Given the description of an element on the screen output the (x, y) to click on. 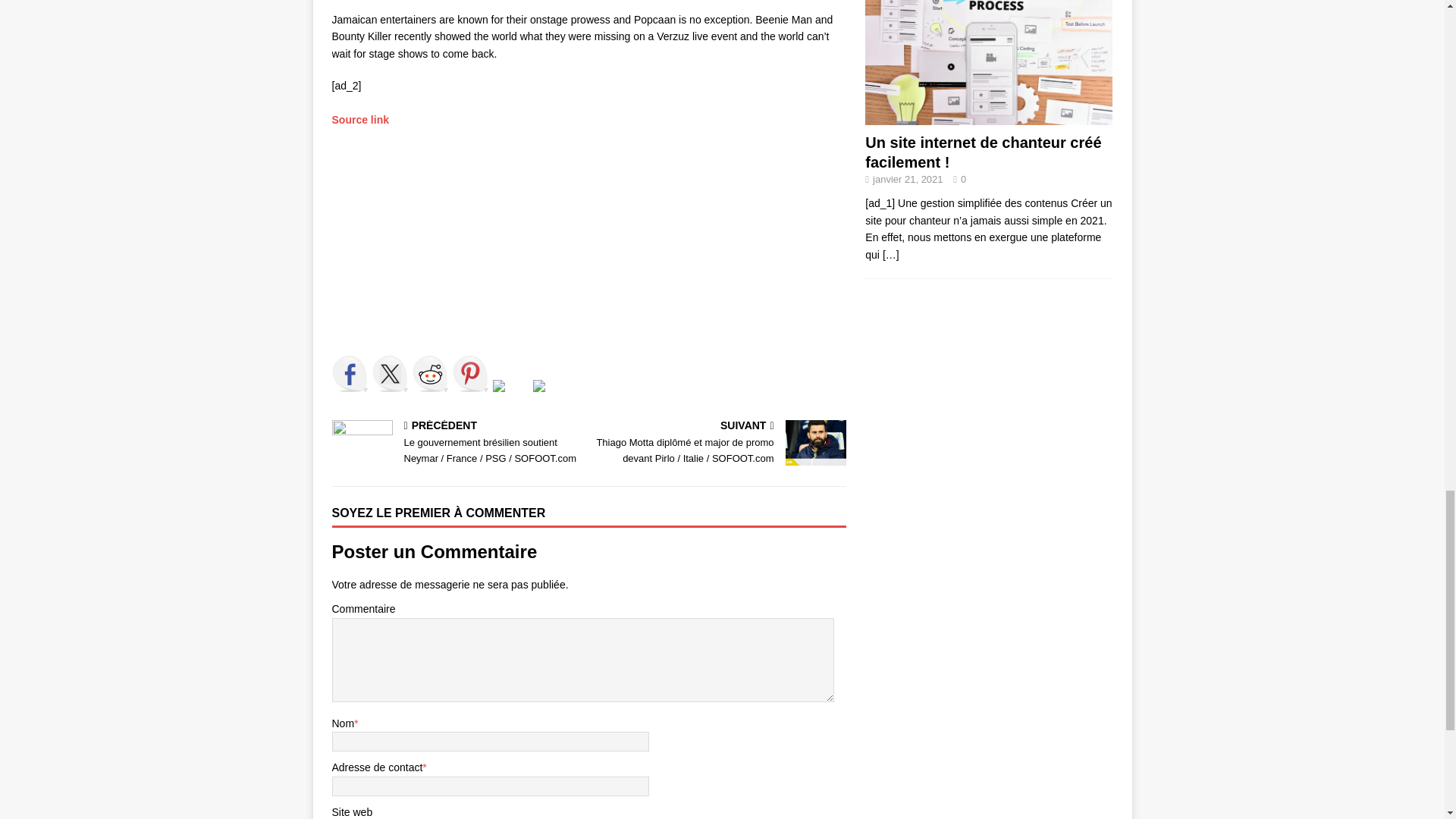
Share by email (550, 398)
Share on Reddit (430, 373)
Pin it with Pinterest (469, 373)
Share on Linkedin (511, 398)
Share on Linkedin (499, 386)
Share on Twitter (389, 373)
Share on Facebook (349, 373)
